Given the description of an element on the screen output the (x, y) to click on. 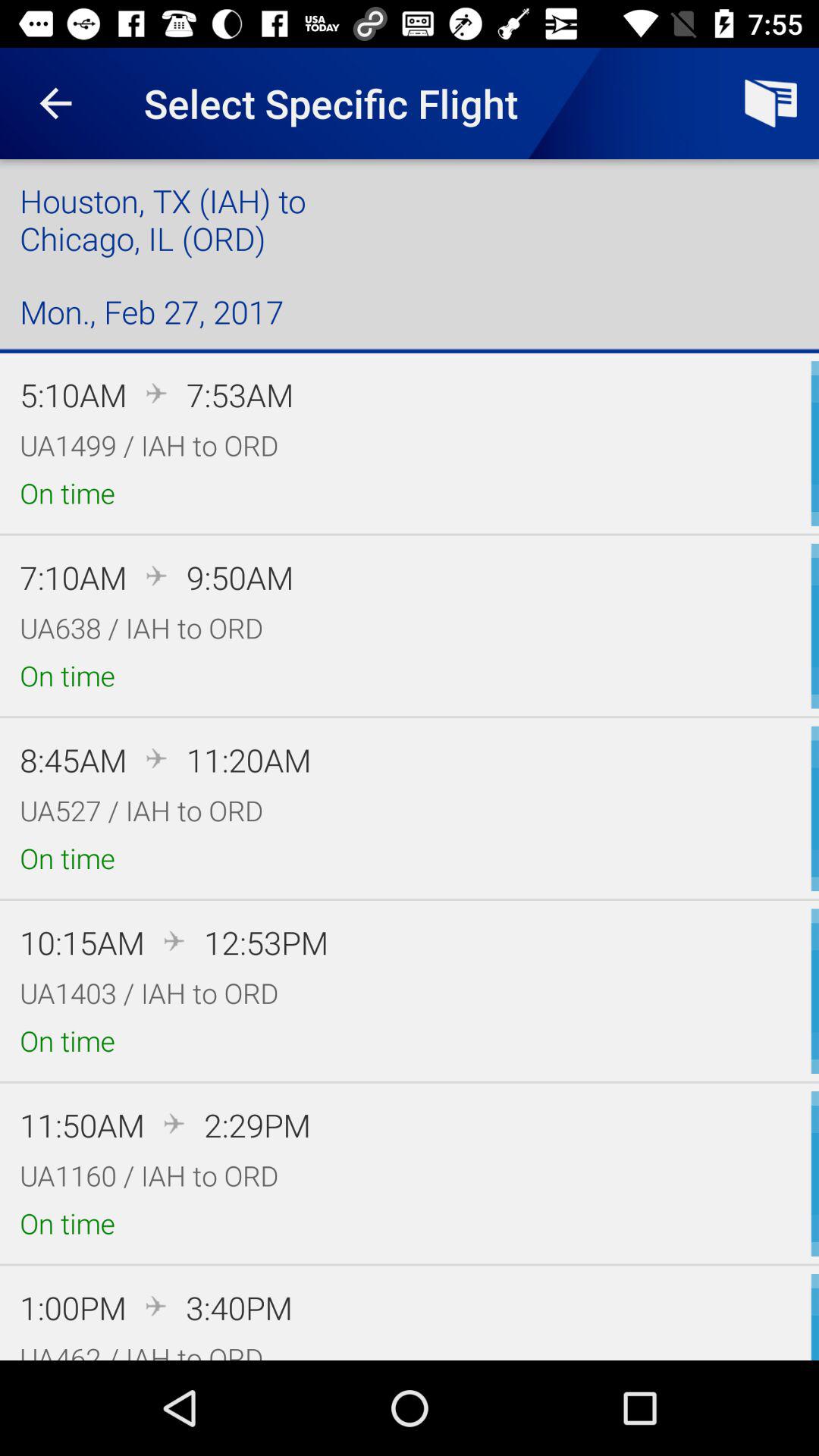
jump to the 1:00pm icon (72, 1307)
